Given the description of an element on the screen output the (x, y) to click on. 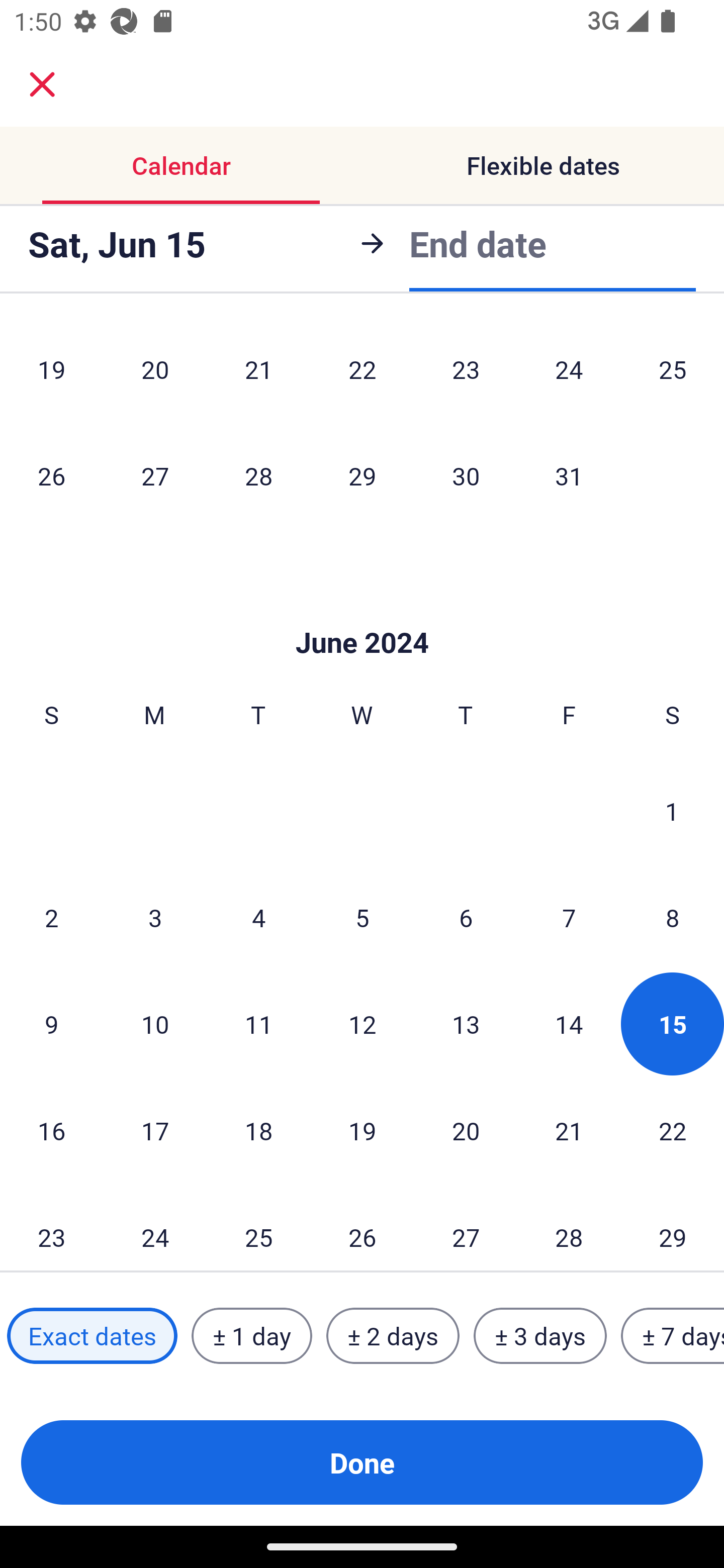
close. (42, 84)
Flexible dates (542, 164)
End date (477, 243)
19 Sunday, May 19, 2024 (51, 370)
20 Monday, May 20, 2024 (155, 370)
21 Tuesday, May 21, 2024 (258, 370)
22 Wednesday, May 22, 2024 (362, 370)
23 Thursday, May 23, 2024 (465, 370)
24 Friday, May 24, 2024 (569, 370)
25 Saturday, May 25, 2024 (672, 370)
26 Sunday, May 26, 2024 (51, 475)
27 Monday, May 27, 2024 (155, 475)
28 Tuesday, May 28, 2024 (258, 475)
29 Wednesday, May 29, 2024 (362, 475)
30 Thursday, May 30, 2024 (465, 475)
31 Friday, May 31, 2024 (569, 475)
Skip to Done (362, 612)
1 Saturday, June 1, 2024 (672, 810)
2 Sunday, June 2, 2024 (51, 917)
3 Monday, June 3, 2024 (155, 917)
4 Tuesday, June 4, 2024 (258, 917)
5 Wednesday, June 5, 2024 (362, 917)
6 Thursday, June 6, 2024 (465, 917)
7 Friday, June 7, 2024 (569, 917)
8 Saturday, June 8, 2024 (672, 917)
9 Sunday, June 9, 2024 (51, 1023)
10 Monday, June 10, 2024 (155, 1023)
11 Tuesday, June 11, 2024 (258, 1023)
12 Wednesday, June 12, 2024 (362, 1023)
13 Thursday, June 13, 2024 (465, 1023)
14 Friday, June 14, 2024 (569, 1023)
16 Sunday, June 16, 2024 (51, 1130)
17 Monday, June 17, 2024 (155, 1130)
18 Tuesday, June 18, 2024 (258, 1130)
19 Wednesday, June 19, 2024 (362, 1130)
20 Thursday, June 20, 2024 (465, 1130)
21 Friday, June 21, 2024 (569, 1130)
22 Saturday, June 22, 2024 (672, 1130)
23 Sunday, June 23, 2024 (51, 1227)
24 Monday, June 24, 2024 (155, 1227)
25 Tuesday, June 25, 2024 (258, 1227)
26 Wednesday, June 26, 2024 (362, 1227)
27 Thursday, June 27, 2024 (465, 1227)
28 Friday, June 28, 2024 (569, 1227)
29 Saturday, June 29, 2024 (672, 1227)
Exact dates (92, 1335)
± 1 day (251, 1335)
± 2 days (392, 1335)
± 3 days (539, 1335)
± 7 days (672, 1335)
Done (361, 1462)
